Given the description of an element on the screen output the (x, y) to click on. 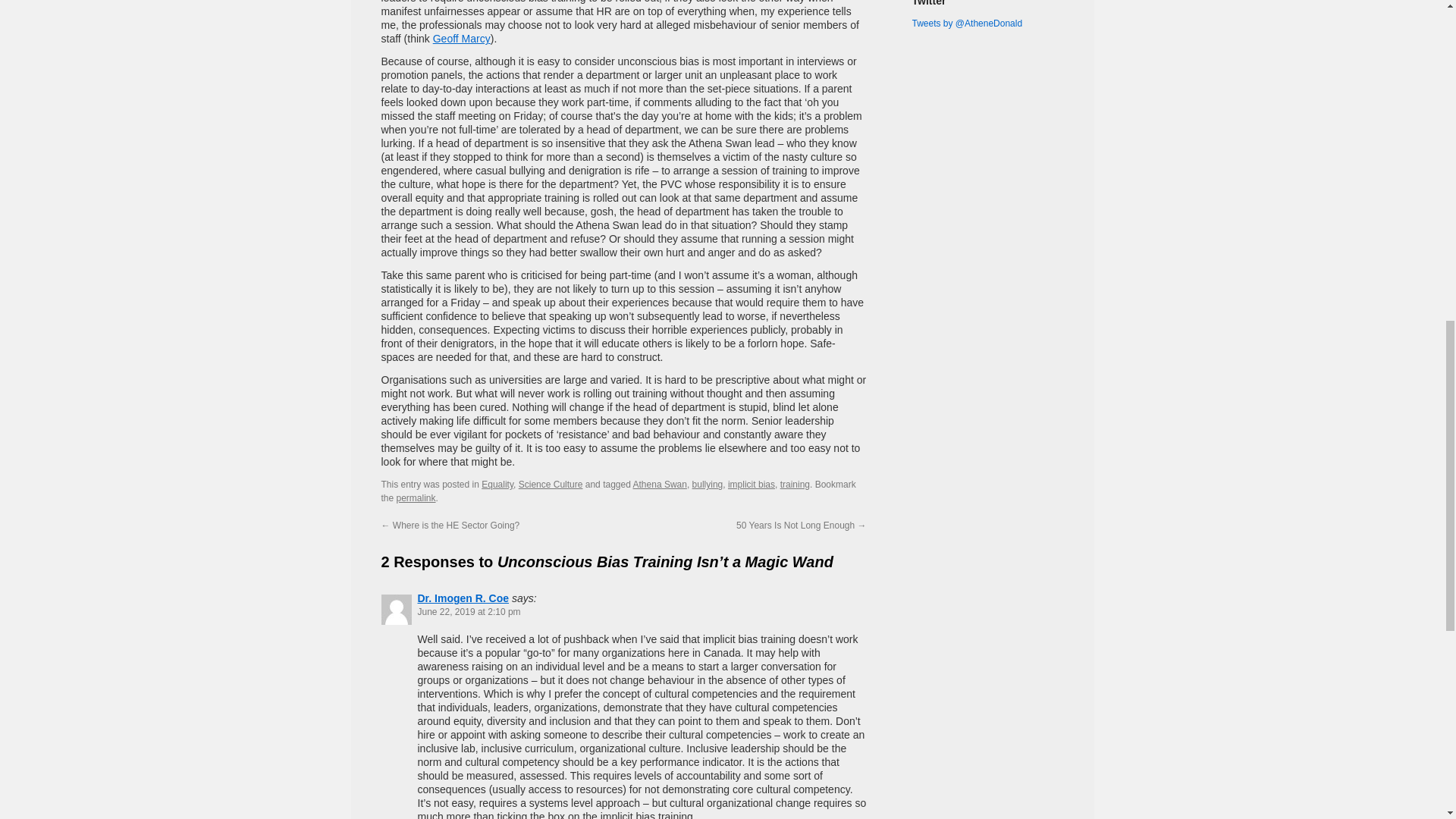
Equality (497, 484)
Athena Swan (660, 484)
bullying (708, 484)
permalink (415, 498)
implicit bias (751, 484)
Dr. Imogen R. Coe (462, 598)
June 22, 2019 at 2:10 pm (467, 611)
Geoff Marcy (461, 38)
training (794, 484)
Science Culture (550, 484)
